Given the description of an element on the screen output the (x, y) to click on. 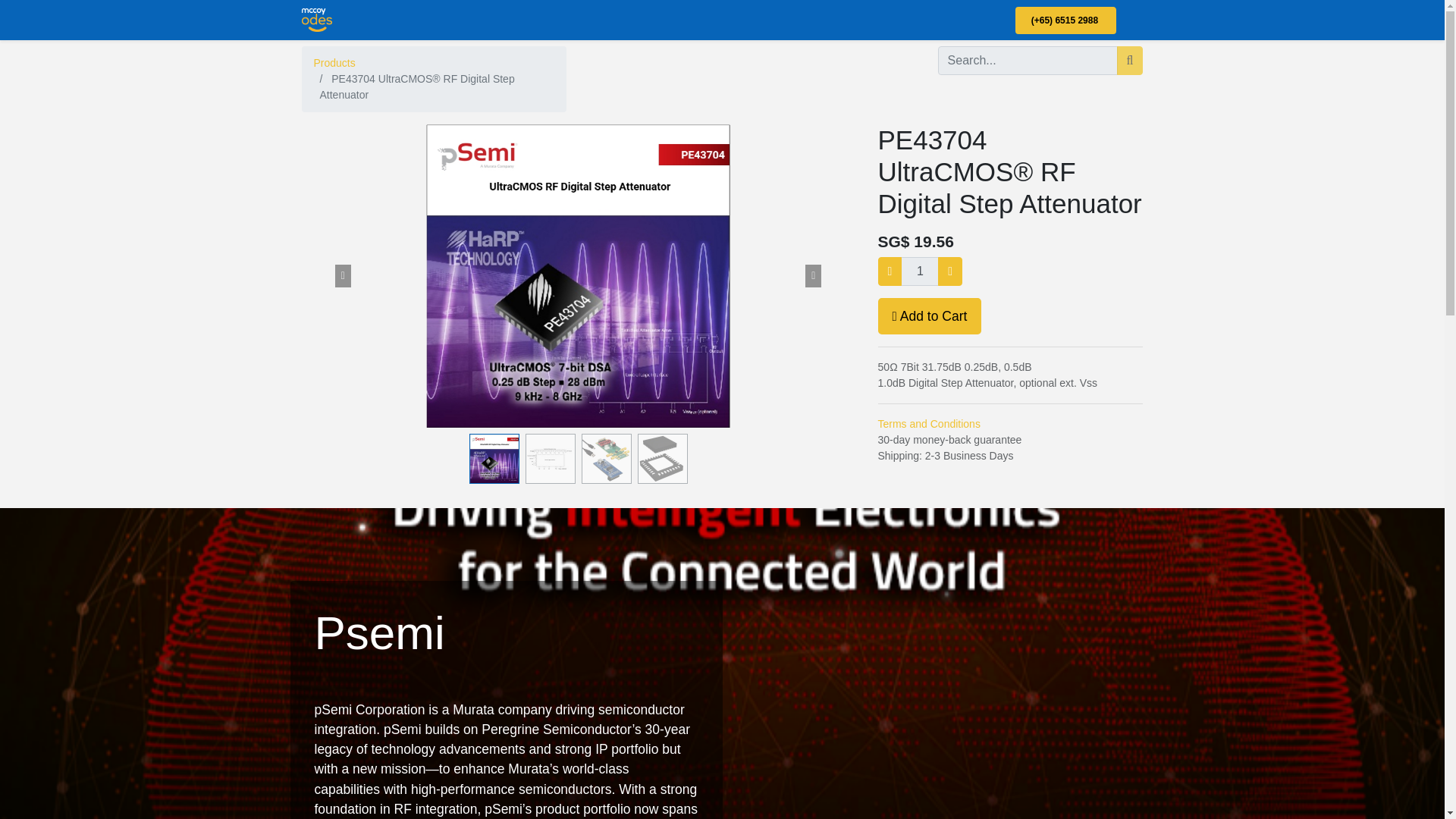
Terms and Conditions (928, 423)
Products (334, 62)
On-Demand Enterprise Solution Singapore (317, 19)
Search (1129, 60)
1 (920, 271)
Add to Cart (929, 316)
